Given the description of an element on the screen output the (x, y) to click on. 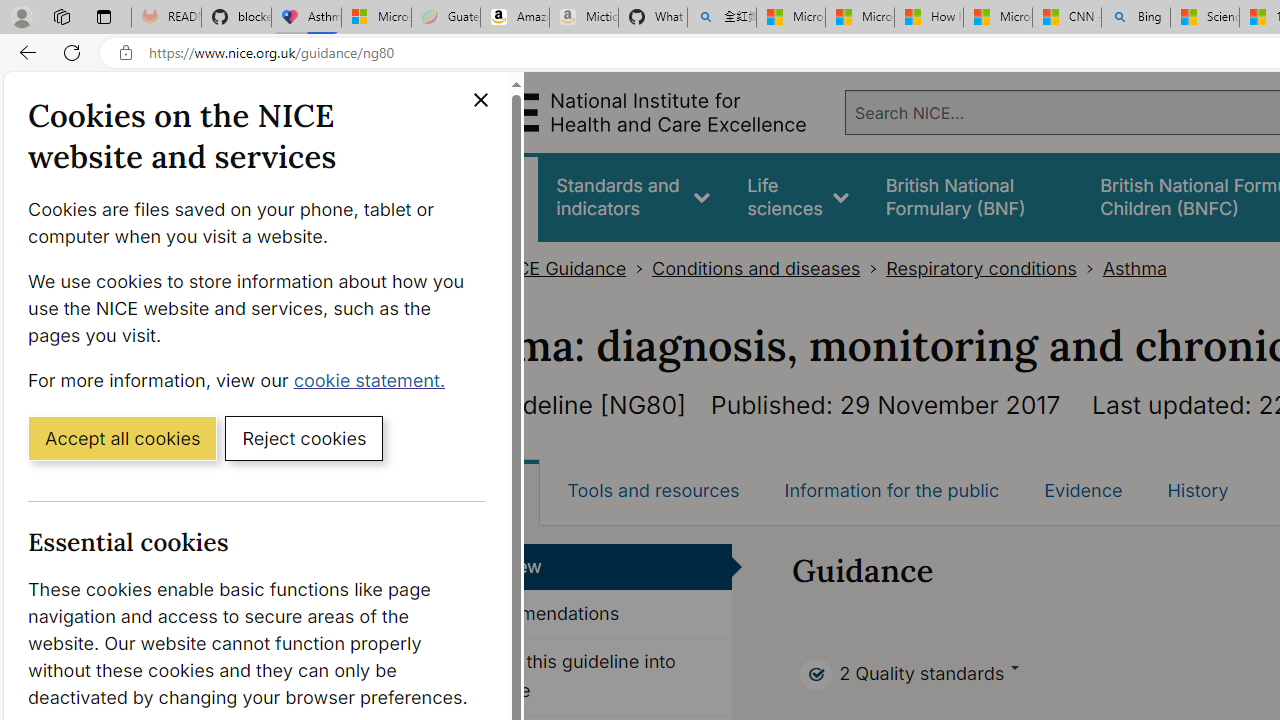
Respiratory conditions (980, 268)
Tools and resources (653, 490)
Overview (587, 566)
Putting this guideline into practice (587, 676)
Conditions and diseases> (769, 268)
Tools and resources (653, 490)
Putting this guideline into practice (588, 676)
Accept all cookies (122, 437)
